Given the description of an element on the screen output the (x, y) to click on. 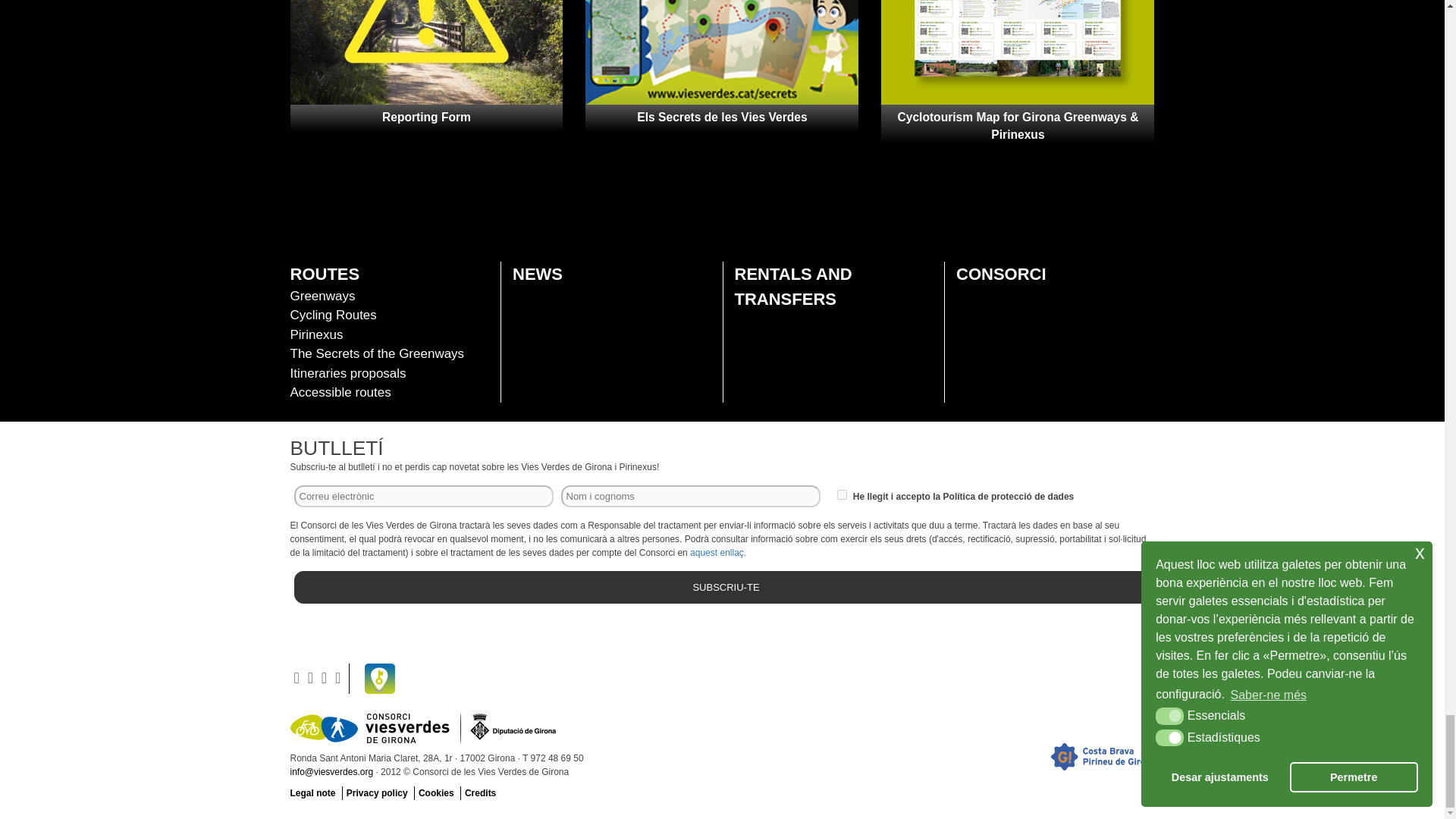
SUBSCRIU-TE (726, 586)
1 (842, 494)
